Given the description of an element on the screen output the (x, y) to click on. 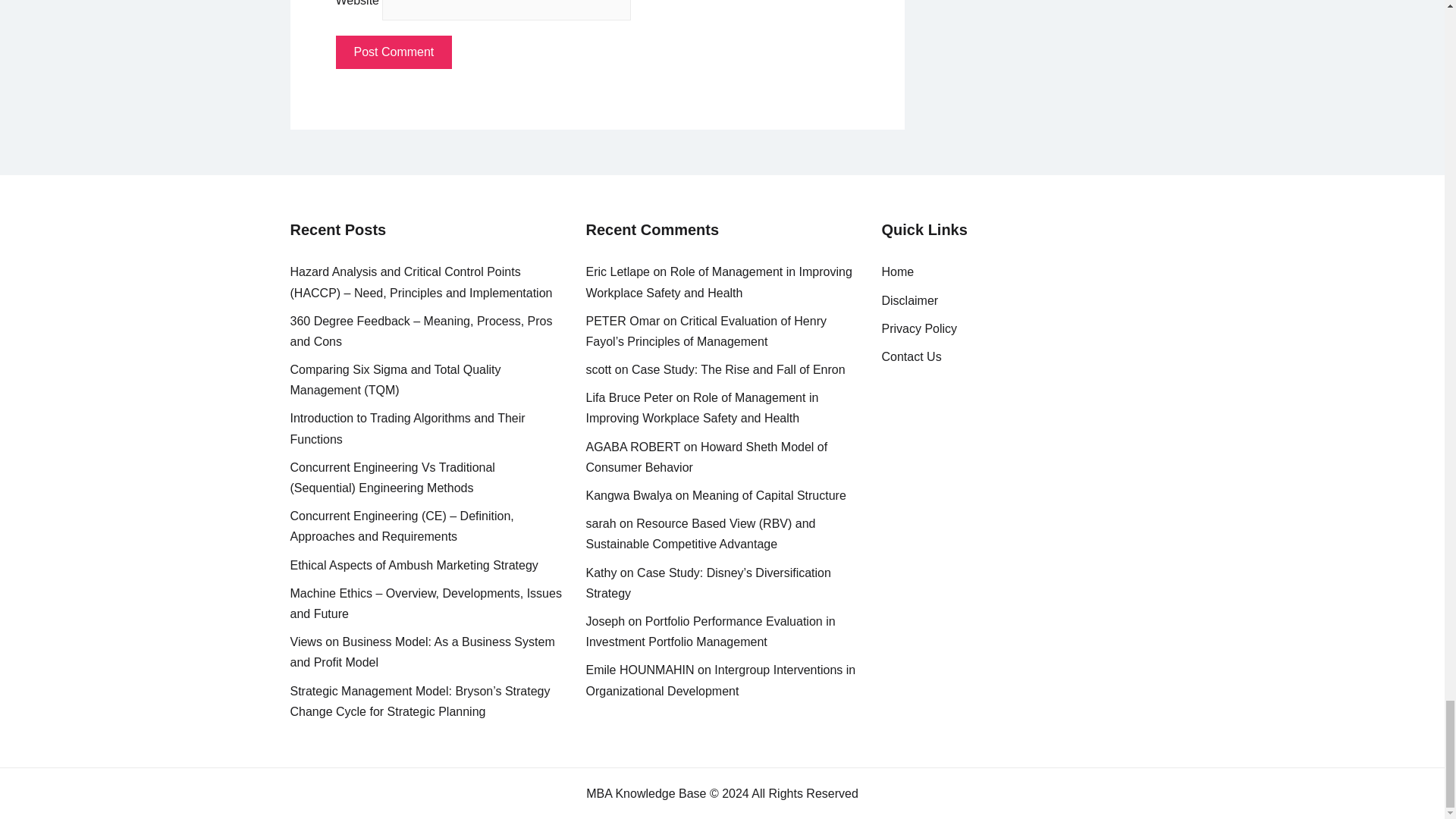
Post Comment (392, 52)
